Given the description of an element on the screen output the (x, y) to click on. 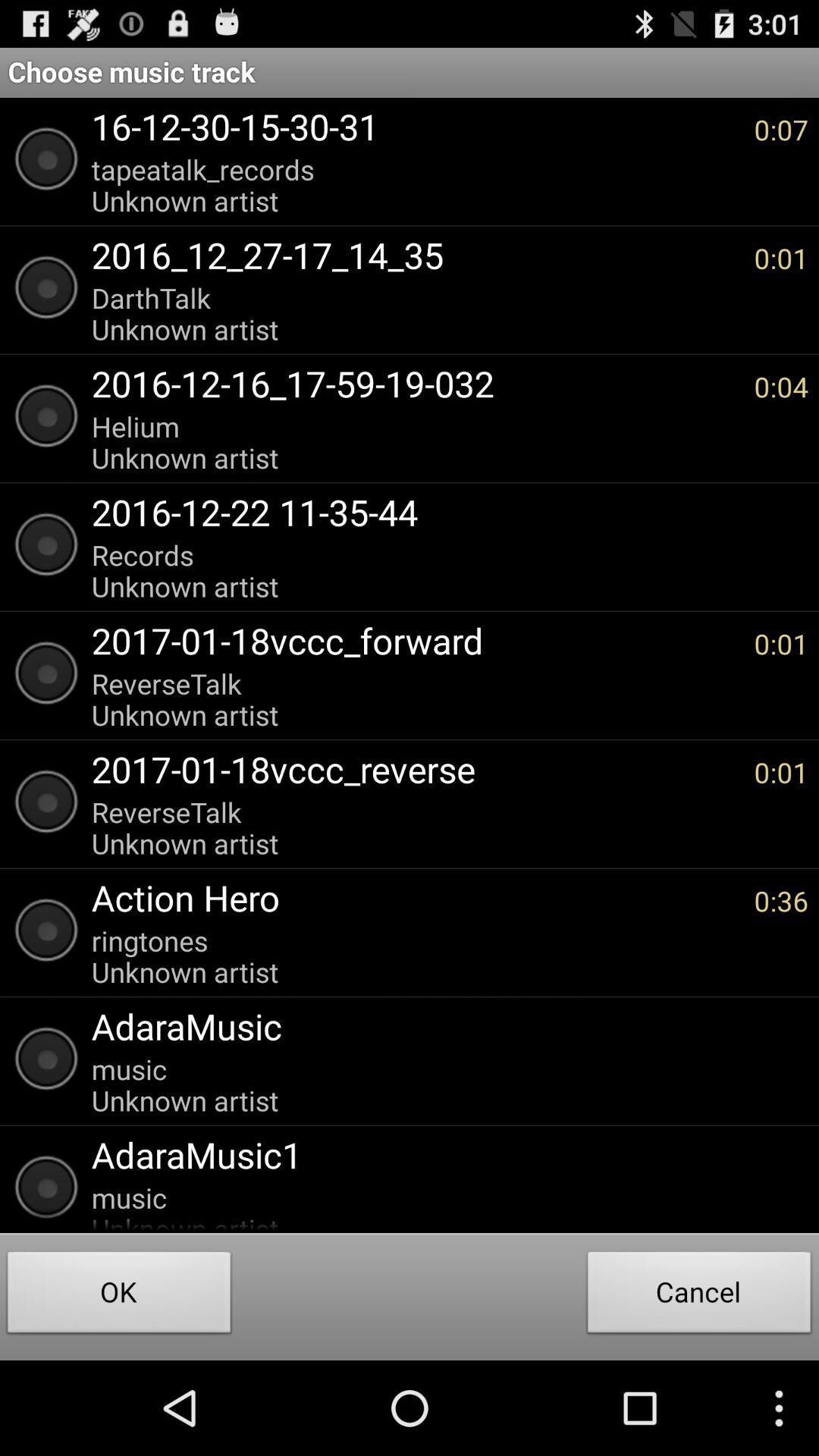
open the icon next to the ok button (699, 1296)
